Given the description of an element on the screen output the (x, y) to click on. 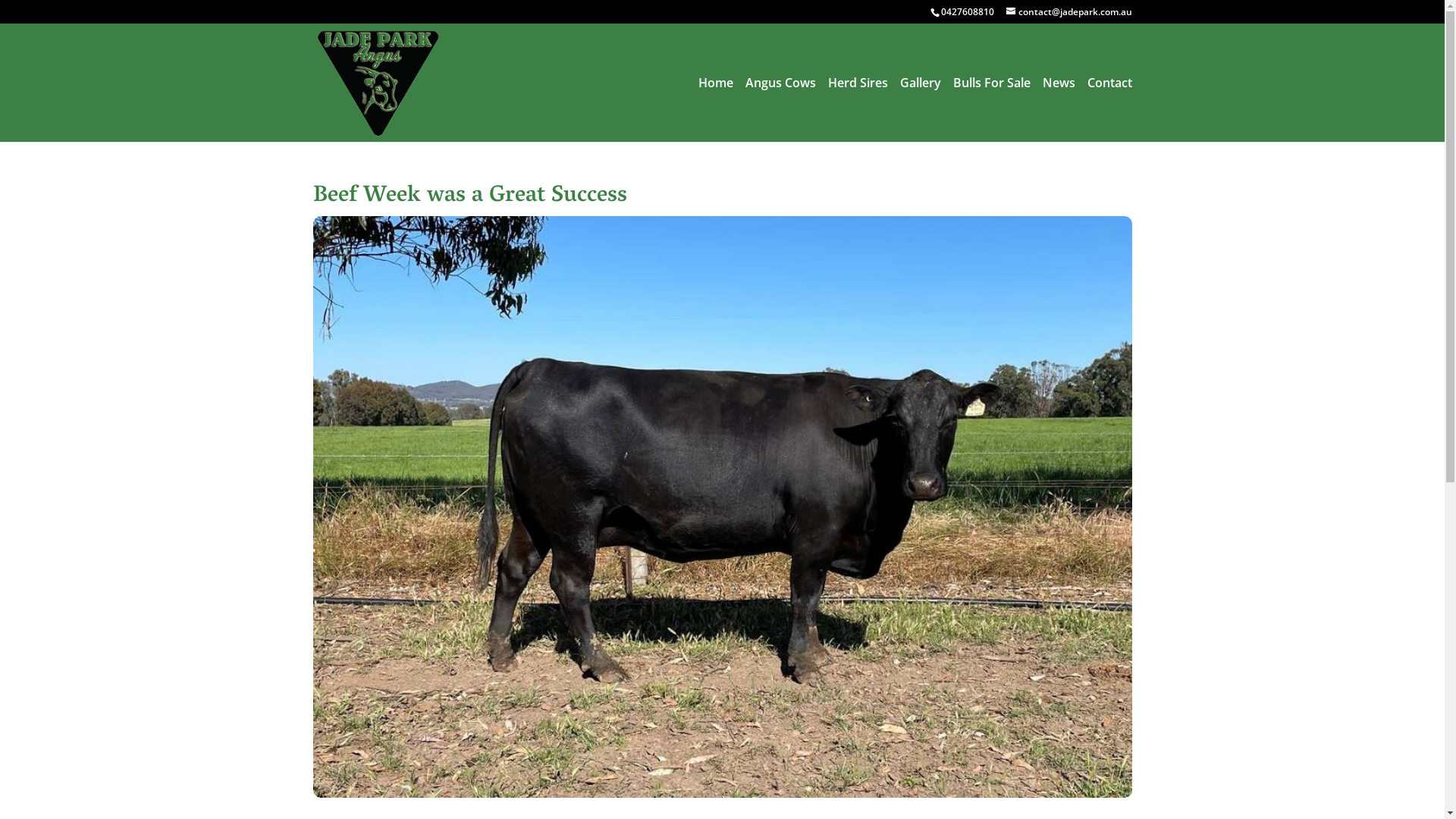
contact@jadepark.com.au Element type: text (1068, 11)
Angus Cows Element type: text (779, 109)
Gallery Element type: text (919, 109)
Home Element type: text (714, 109)
Herd Sires Element type: text (858, 109)
Bulls For Sale Element type: text (990, 109)
0427608810 Element type: text (966, 11)
Contact Element type: text (1109, 109)
News Element type: text (1057, 109)
